Given the description of an element on the screen output the (x, y) to click on. 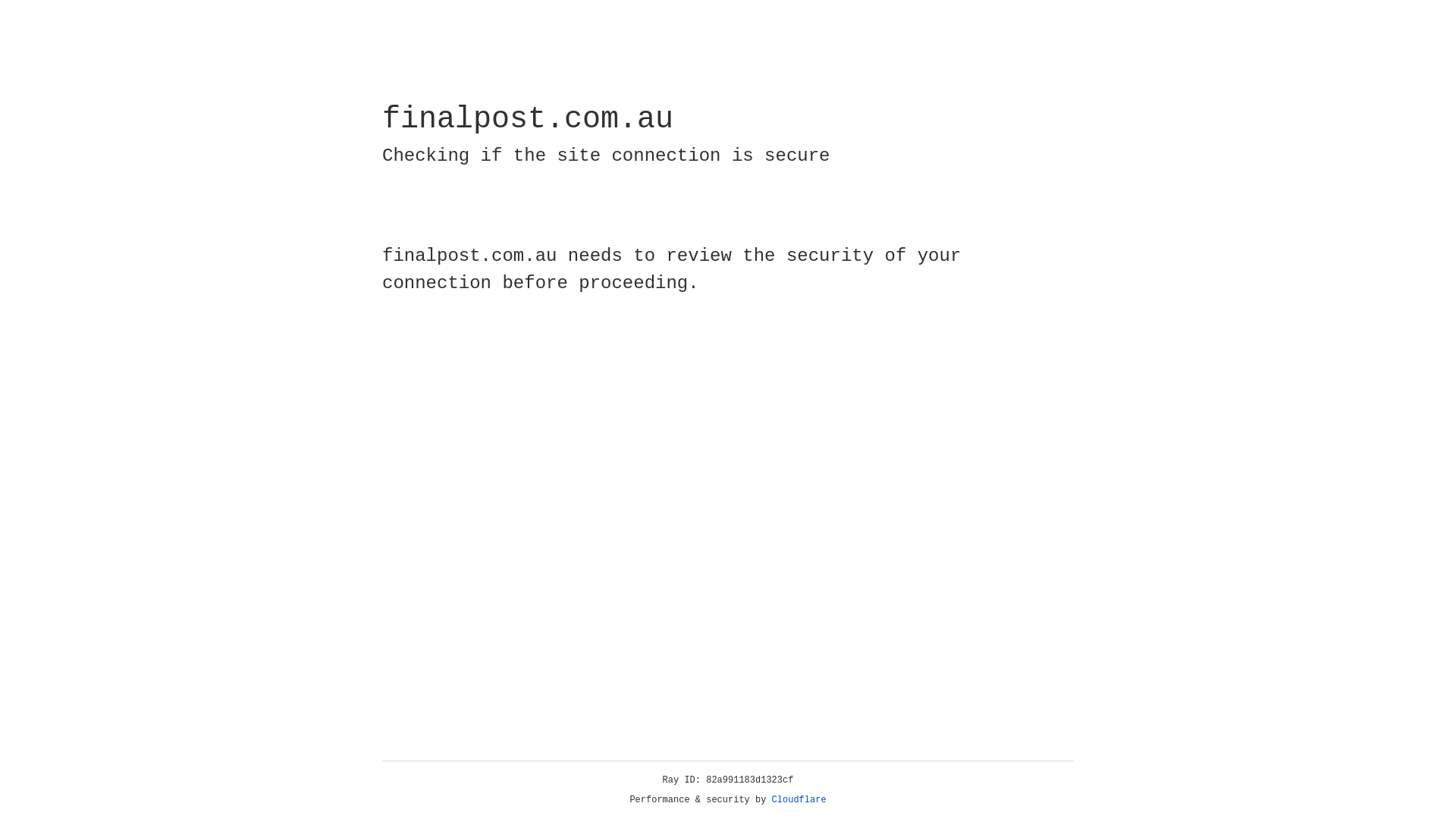
Cloudflare Element type: text (798, 799)
